Given the description of an element on the screen output the (x, y) to click on. 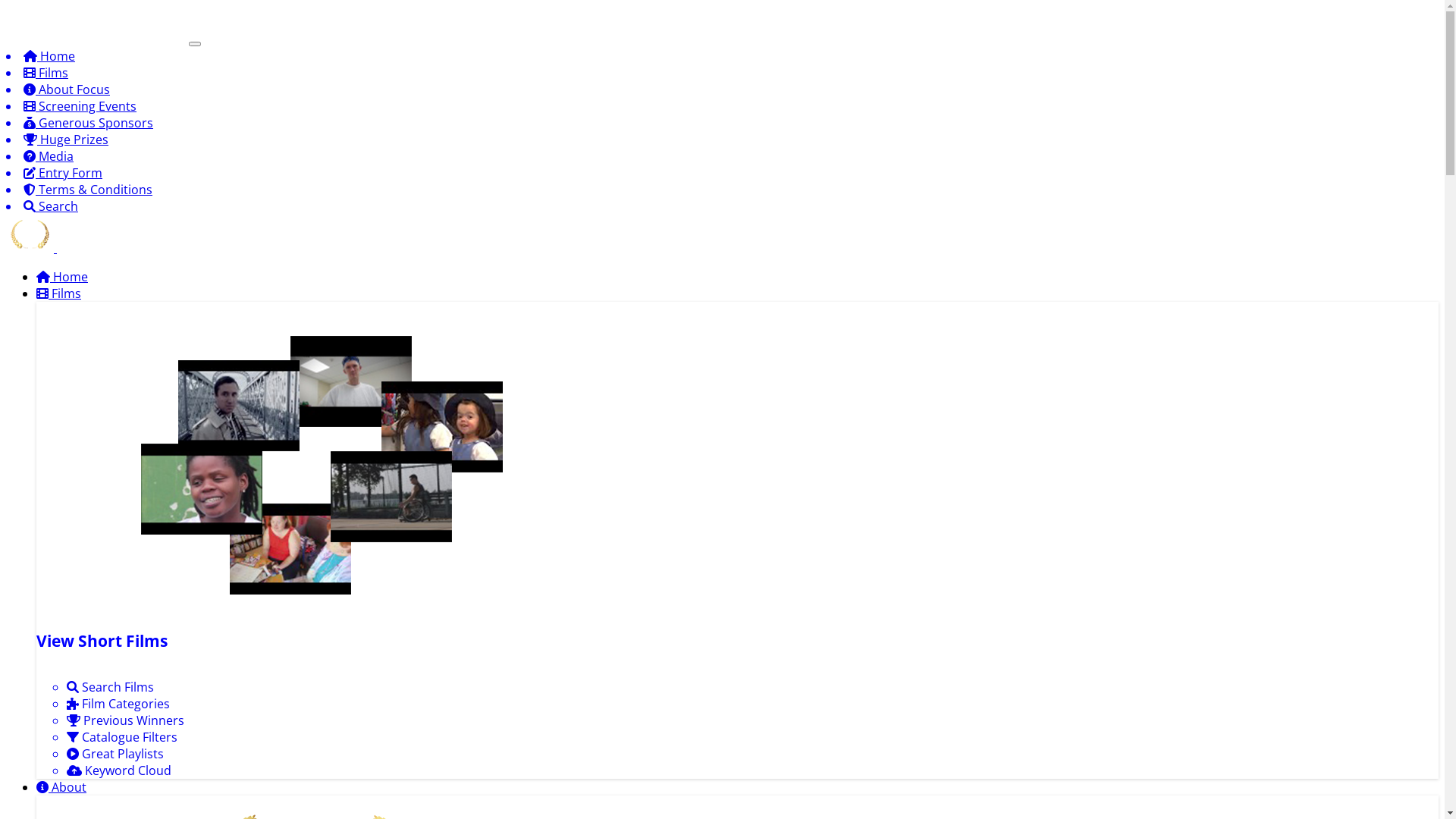
Screening Events Element type: text (722, 105)
About Focus Element type: text (722, 89)
Entry Form Element type: text (722, 172)
Keyword Cloud Element type: text (752, 770)
Films Element type: text (722, 72)
Home Element type: text (61, 276)
Films Element type: text (58, 293)
Previous Winners Element type: text (752, 720)
Search Element type: text (722, 205)
Great Playlists Element type: text (752, 753)
Huge Prizes Element type: text (722, 139)
About Element type: text (61, 786)
Media Element type: text (722, 155)
Home Element type: text (722, 55)
Film Categories Element type: text (752, 703)
Generous Sponsors Element type: text (722, 122)
Terms & Conditions Element type: text (722, 189)
Catalogue Filters Element type: text (752, 736)
Search Films Element type: text (752, 686)
